Given the description of an element on the screen output the (x, y) to click on. 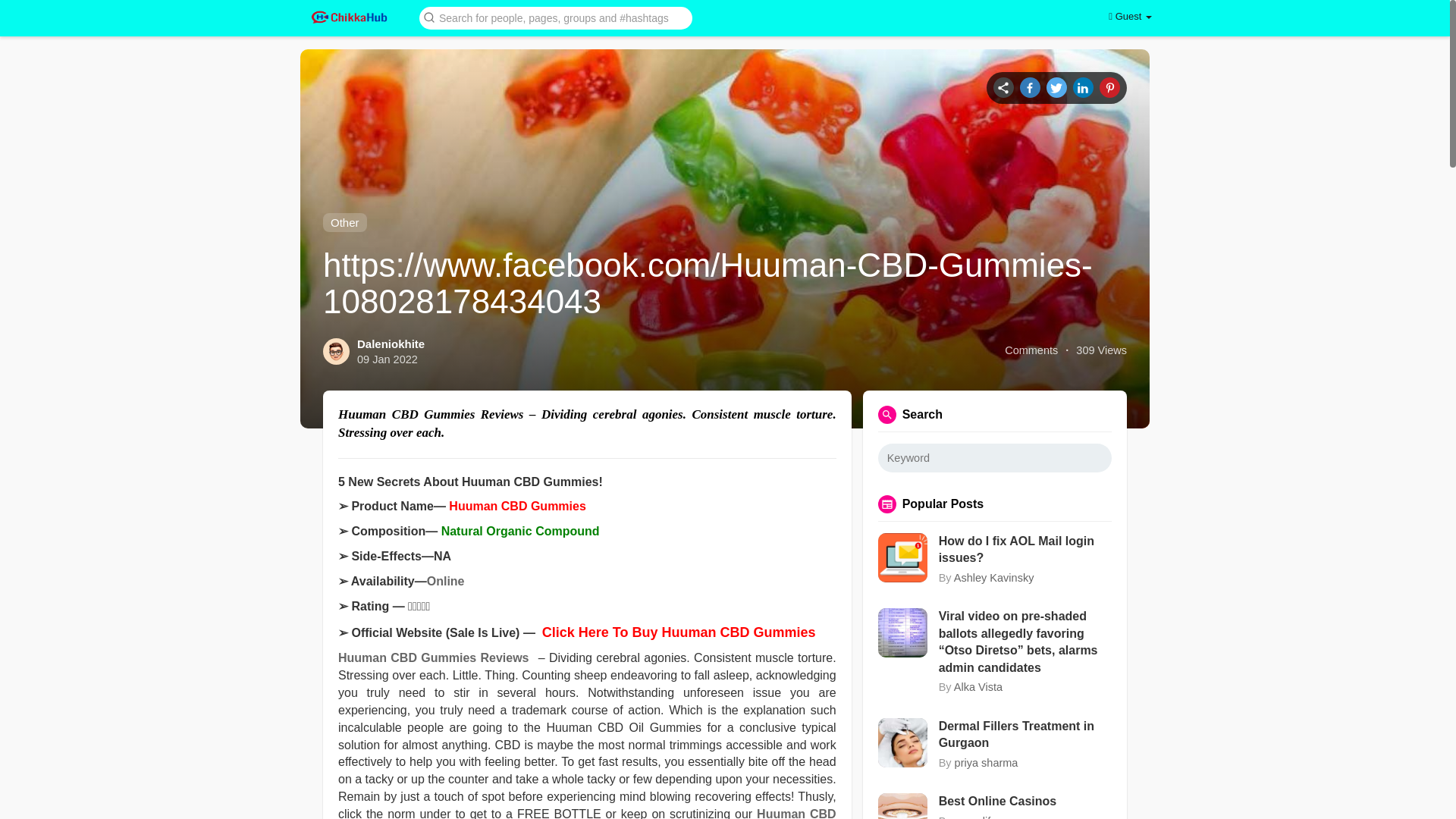
Click Here To Buy Huuman CBD Gummies (678, 632)
Twitter (1056, 86)
Online (445, 581)
Huuman CBD Gummies (516, 505)
Linkedin (1082, 86)
Facebook (1029, 86)
Comments (1031, 350)
Other (344, 221)
Huuman CBD Gummies (586, 813)
Huuman CBD Gummies Reviews (433, 657)
